Given the description of an element on the screen output the (x, y) to click on. 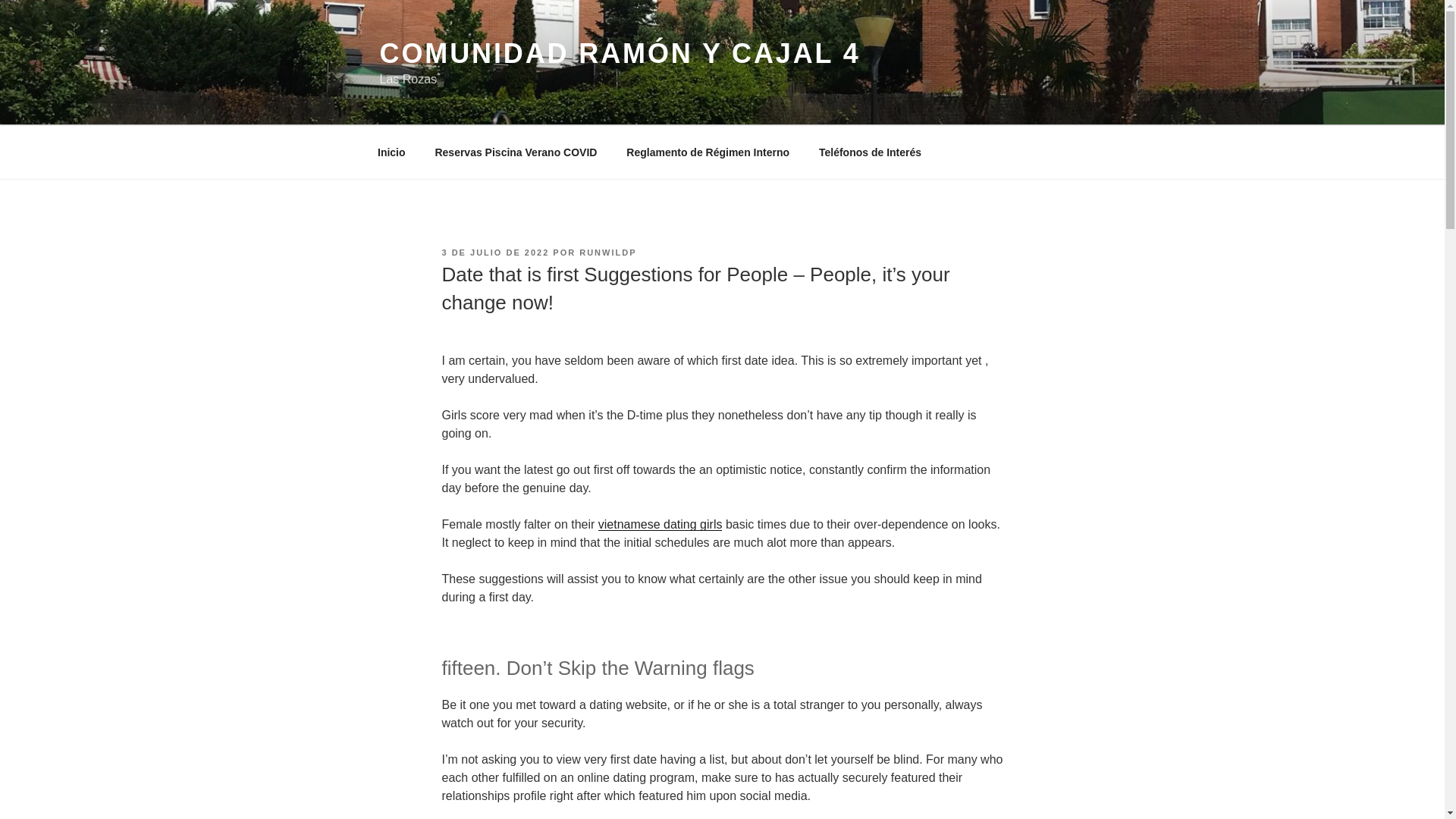
Inicio (391, 151)
vietnamese dating girls (660, 523)
3 DE JULIO DE 2022 (494, 252)
RUNWILDP (607, 252)
Reservas Piscina Verano COVID (516, 151)
